Given the description of an element on the screen output the (x, y) to click on. 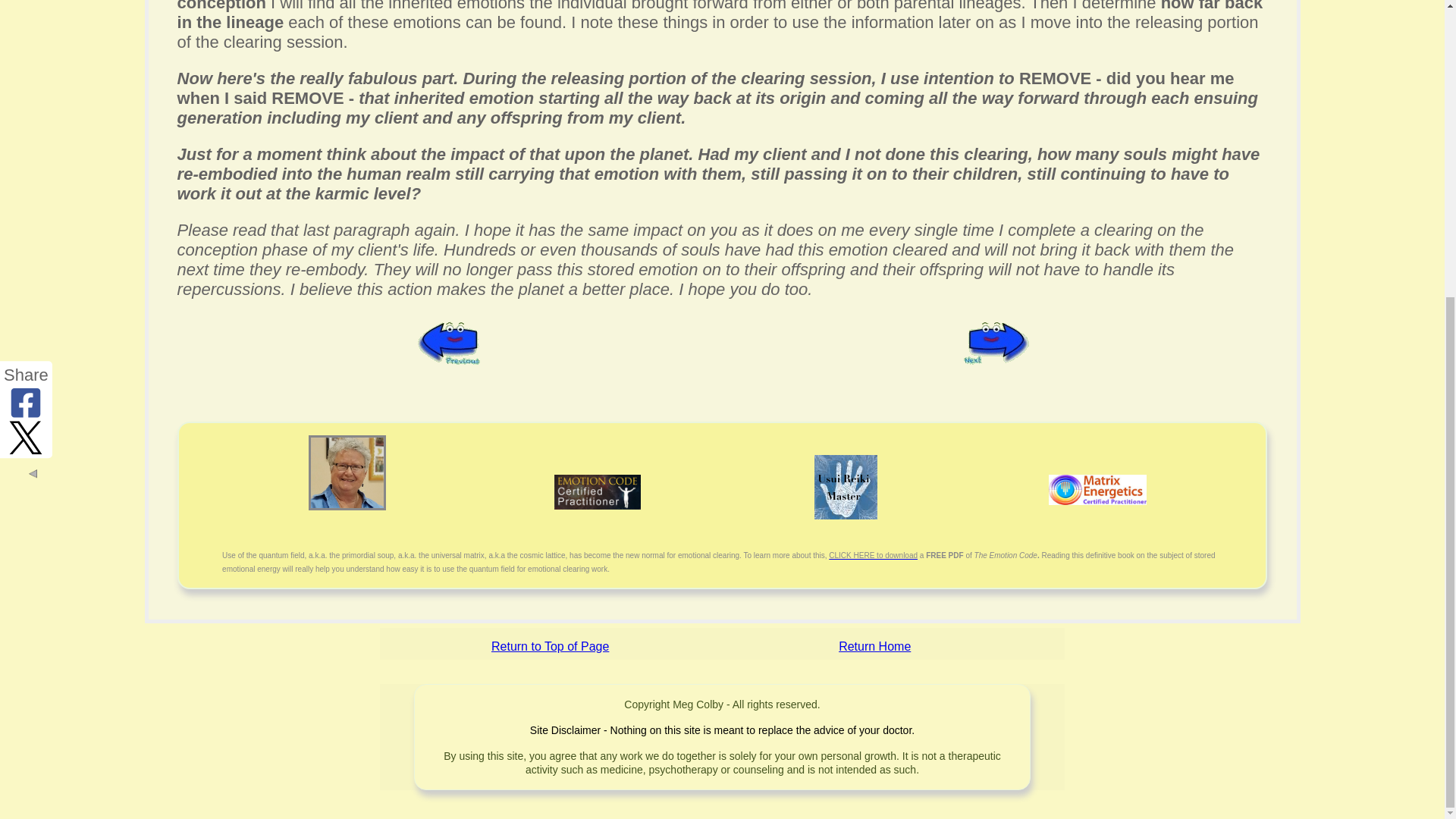
Go to Emotional Infrastructure Clearing (994, 358)
Matrix Energetics Certified Practitioner (1097, 490)
Usui Reiki Master (845, 487)
Go to Emotional Infrastructure Clearing (448, 358)
Emotion Code Certified Practitioner (597, 492)
Meg Colby (346, 472)
